Given the description of an element on the screen output the (x, y) to click on. 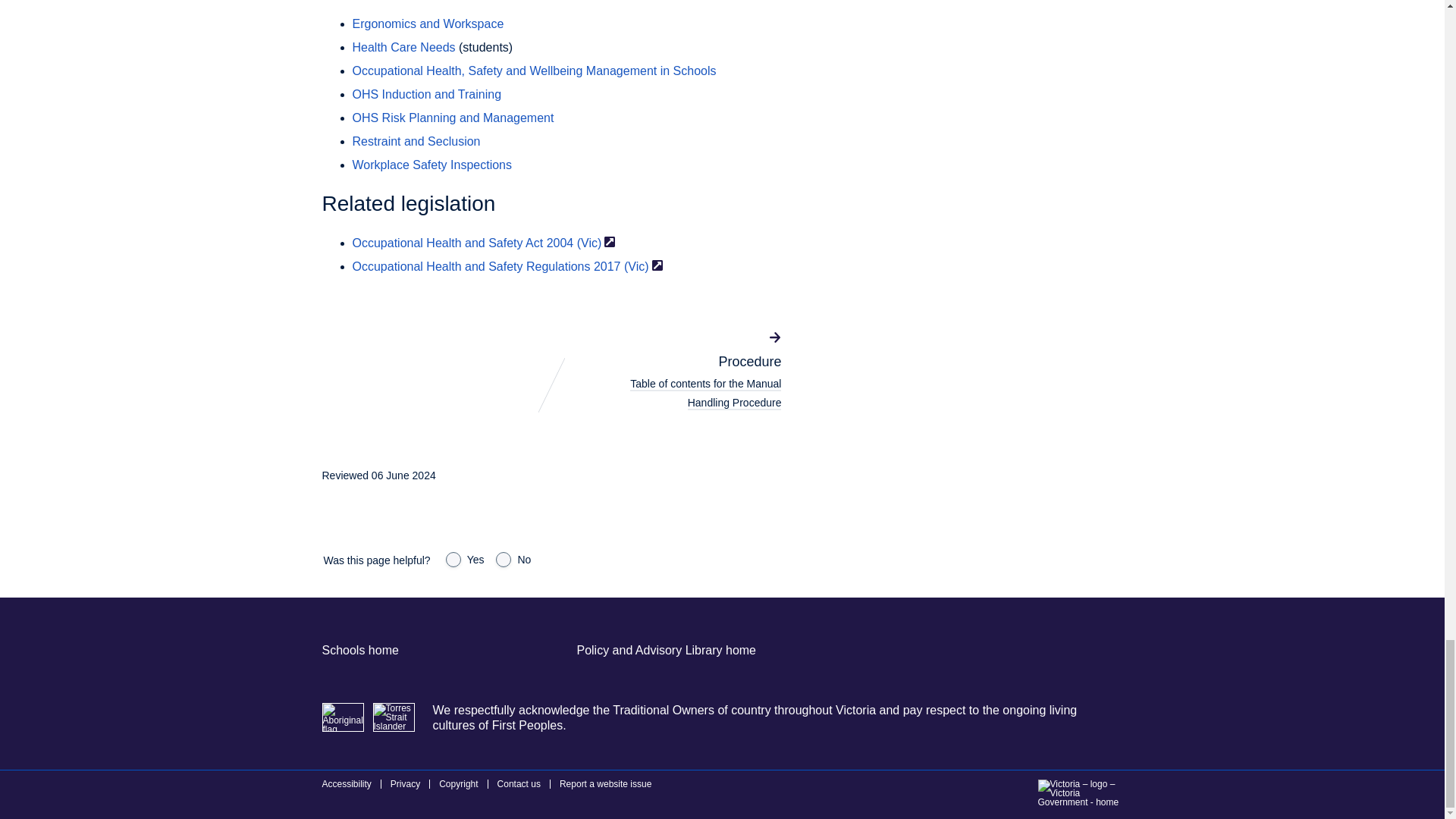
Workplace Safety Inspections (431, 164)
No (503, 559)
OHS Risk Planning and Management (452, 117)
Schools home (359, 649)
External Link (609, 241)
OHS Induction and Training (426, 93)
External Link (657, 265)
Policy and Advisory Library home (665, 649)
